Given the description of an element on the screen output the (x, y) to click on. 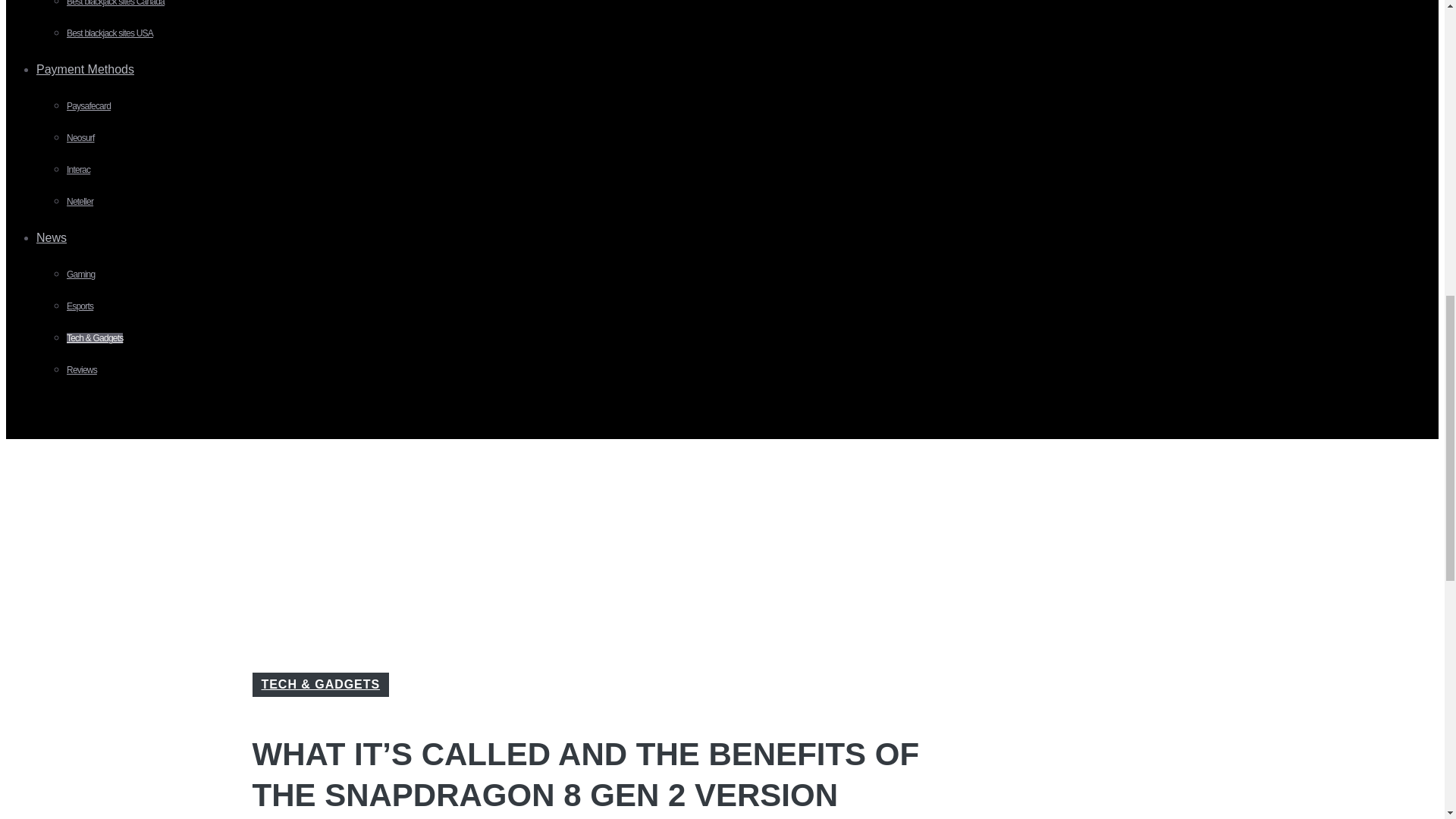
Best blackjack sites USA (109, 32)
Reviews (81, 369)
News (57, 237)
Best blackjack sites Canada (115, 3)
Neosurf (80, 137)
Gaming (80, 274)
Interac (78, 169)
Payment Methods (91, 69)
Esports (79, 306)
Paysafecard (88, 105)
Neteller (79, 201)
